Given the description of an element on the screen output the (x, y) to click on. 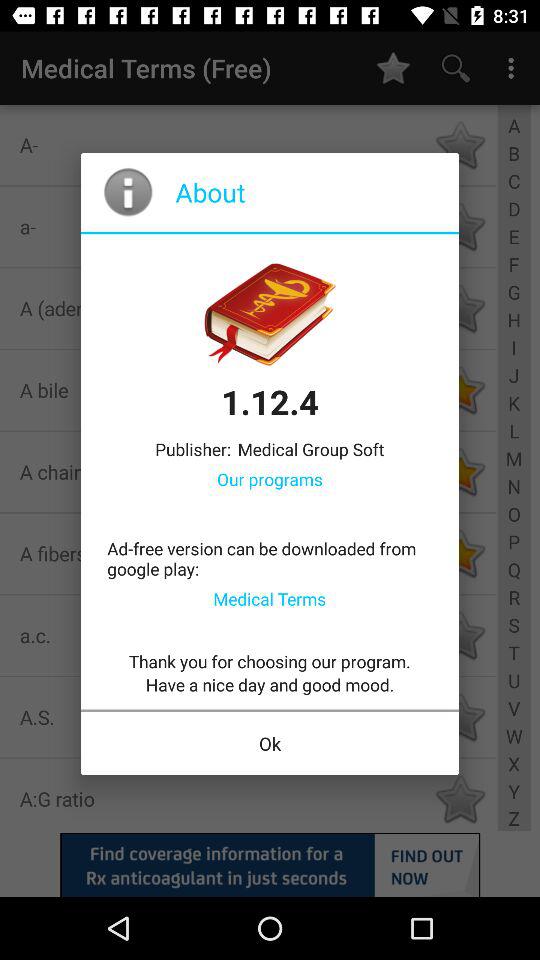
click the ok icon (270, 743)
